Given the description of an element on the screen output the (x, y) to click on. 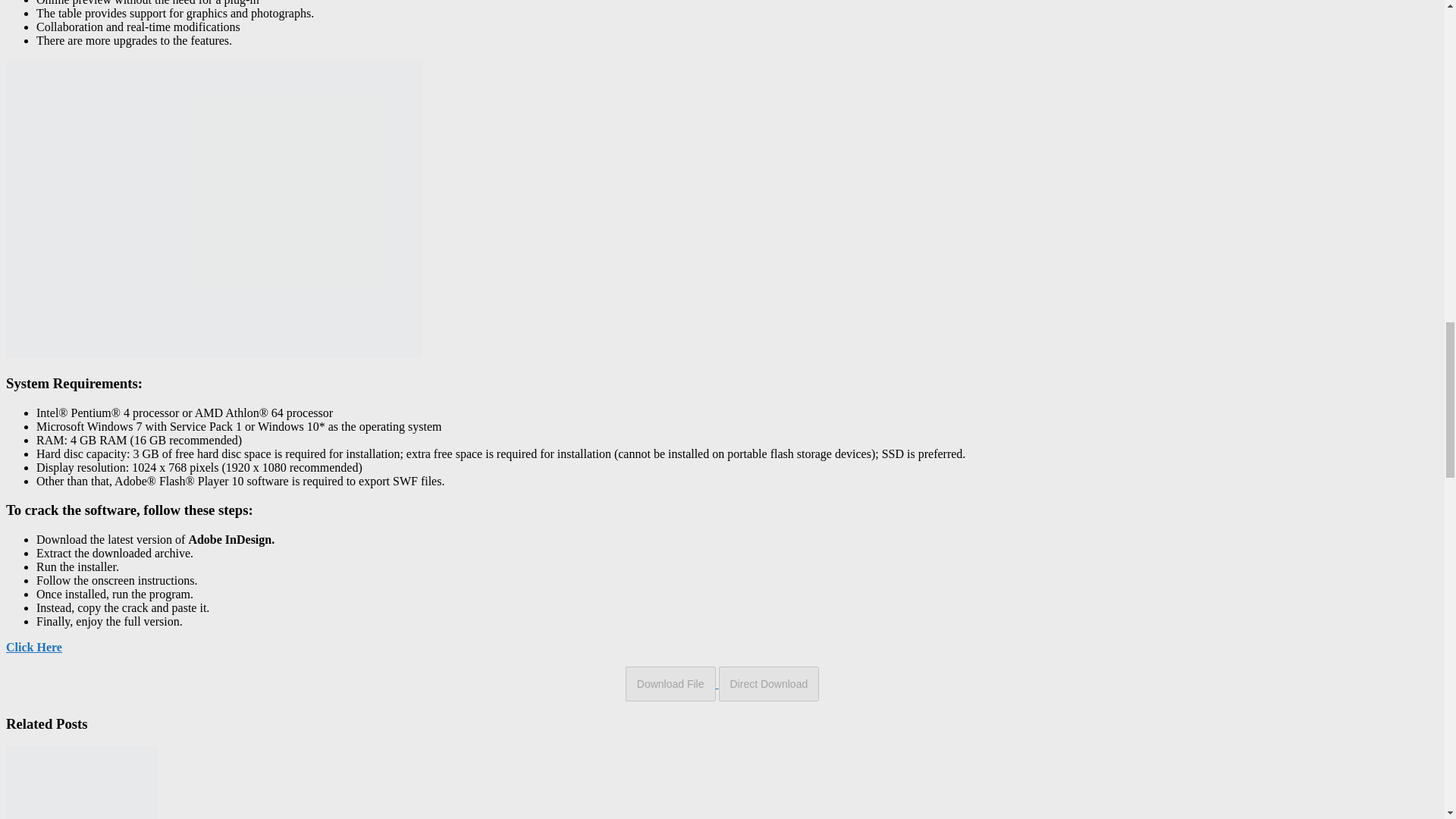
Download File (671, 683)
Click Here (33, 646)
Download File Direct Download (722, 683)
Direct Download (769, 683)
